Given the description of an element on the screen output the (x, y) to click on. 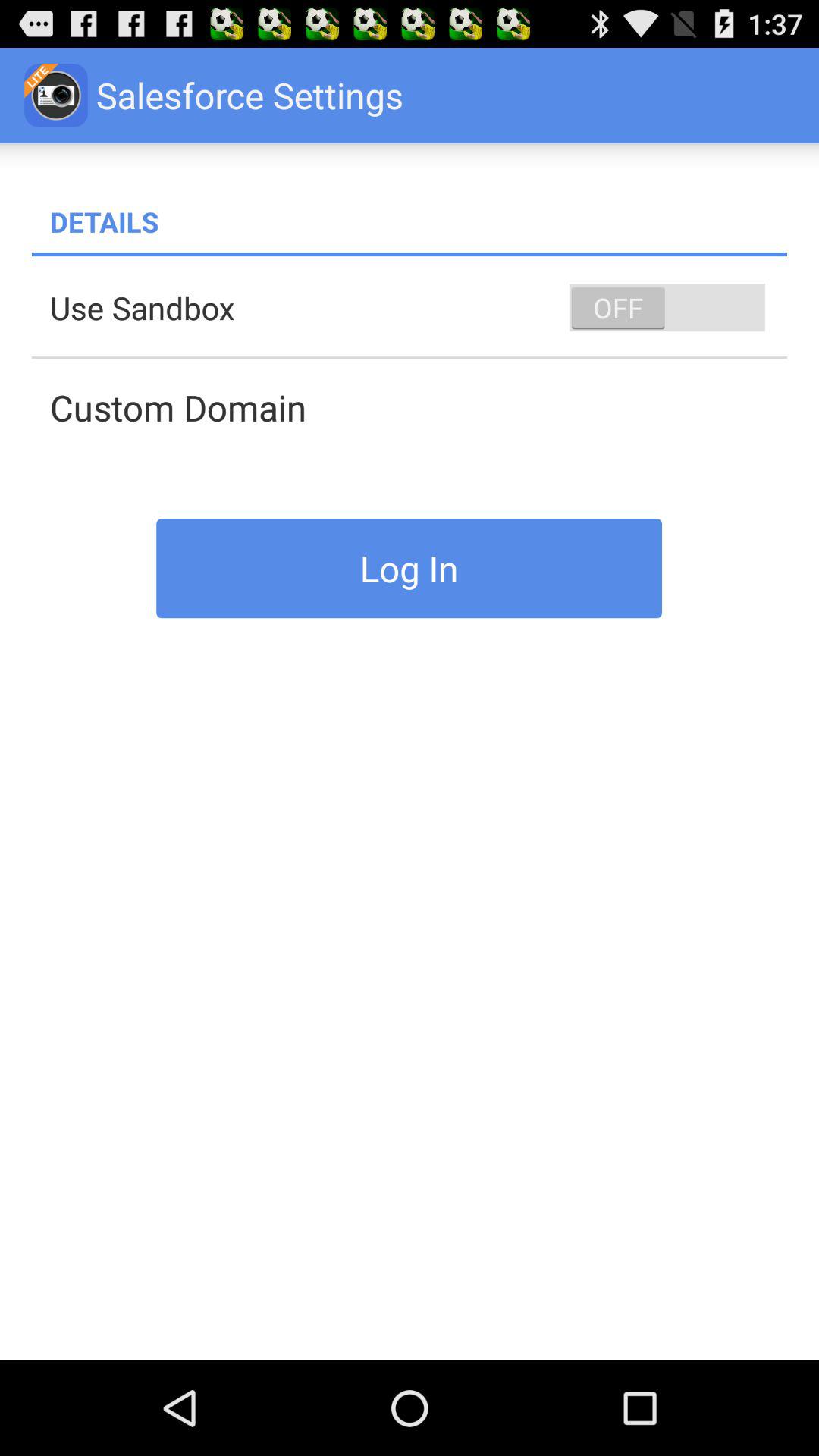
turn off use sandbox (418, 307)
